Given the description of an element on the screen output the (x, y) to click on. 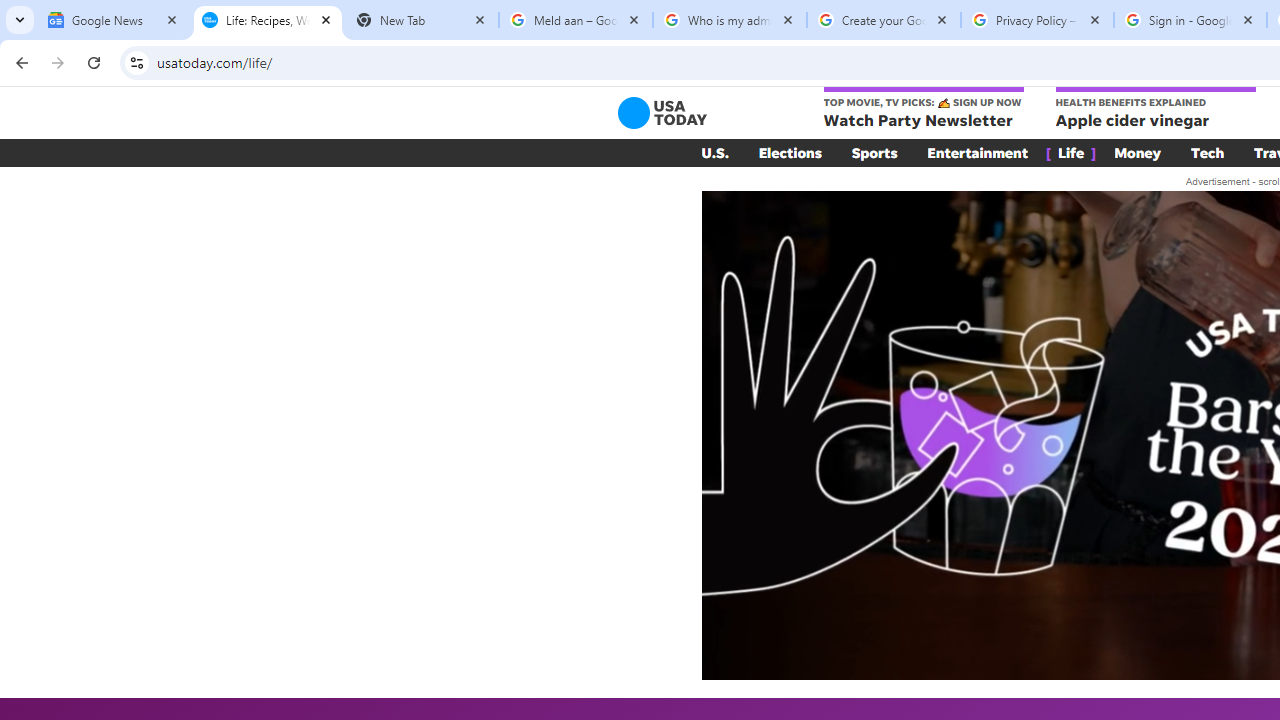
Elections (789, 152)
Sports (873, 152)
Create your Google Account (883, 20)
Money (1137, 152)
Life: Recipes, Wellness & Horoscopes - USA TODAY (267, 20)
HEALTH BENEFITS EXPLAINED Apple cider vinegar (1154, 109)
